Given the description of an element on the screen output the (x, y) to click on. 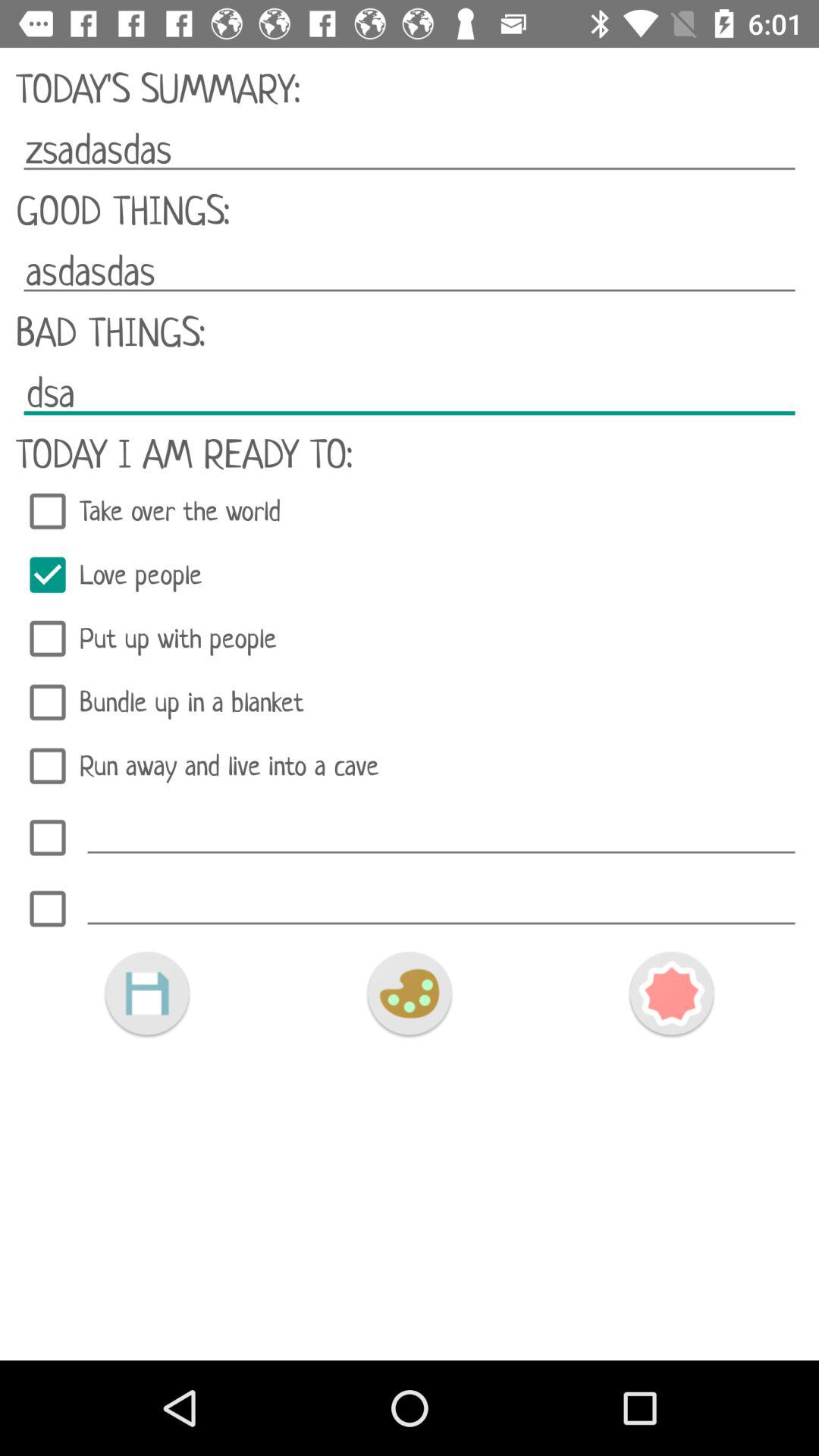
check off task (47, 908)
